Given the description of an element on the screen output the (x, y) to click on. 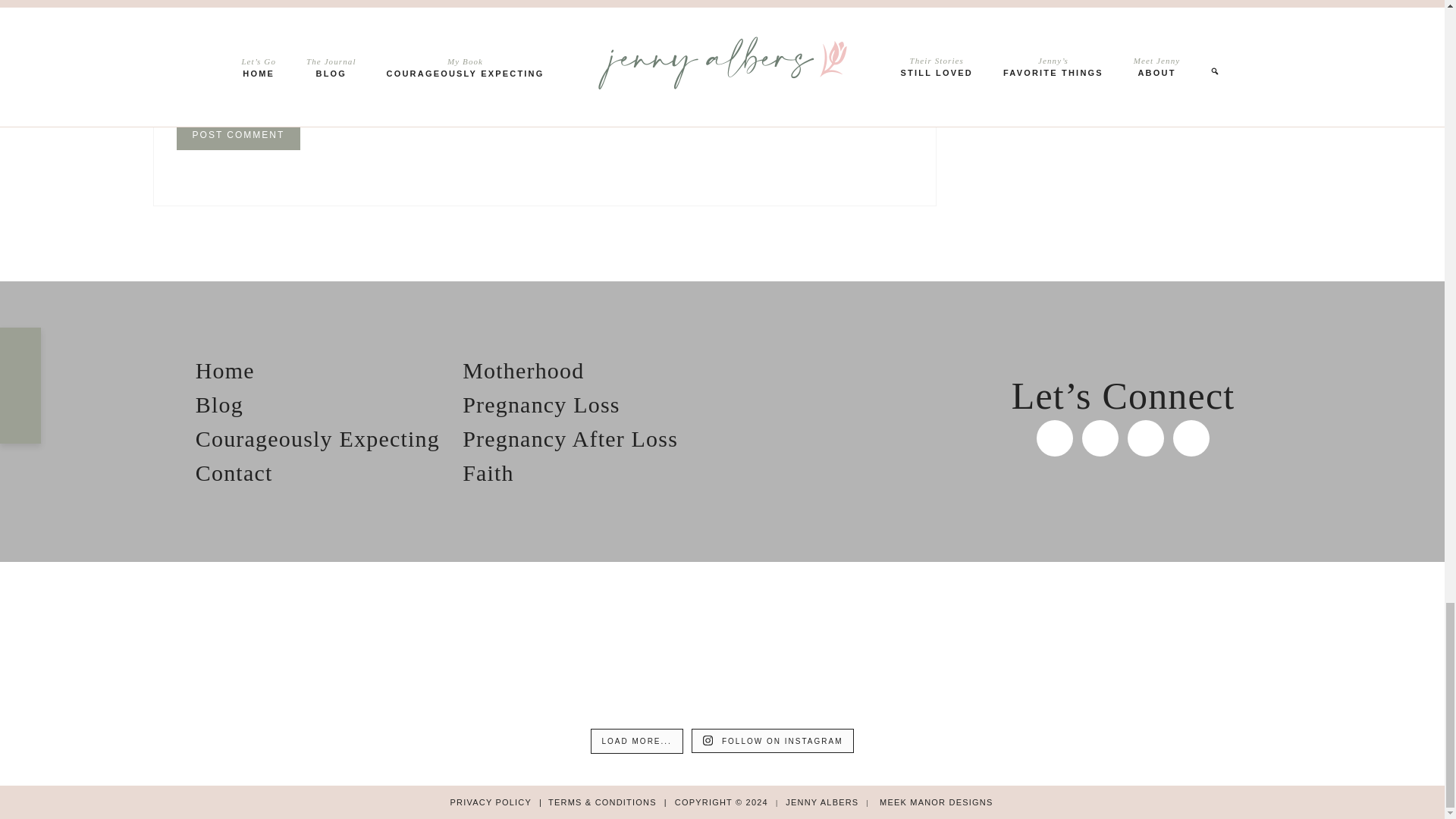
Home (224, 370)
Post Comment (238, 134)
Post Comment (238, 134)
yes (181, 55)
